Given the description of an element on the screen output the (x, y) to click on. 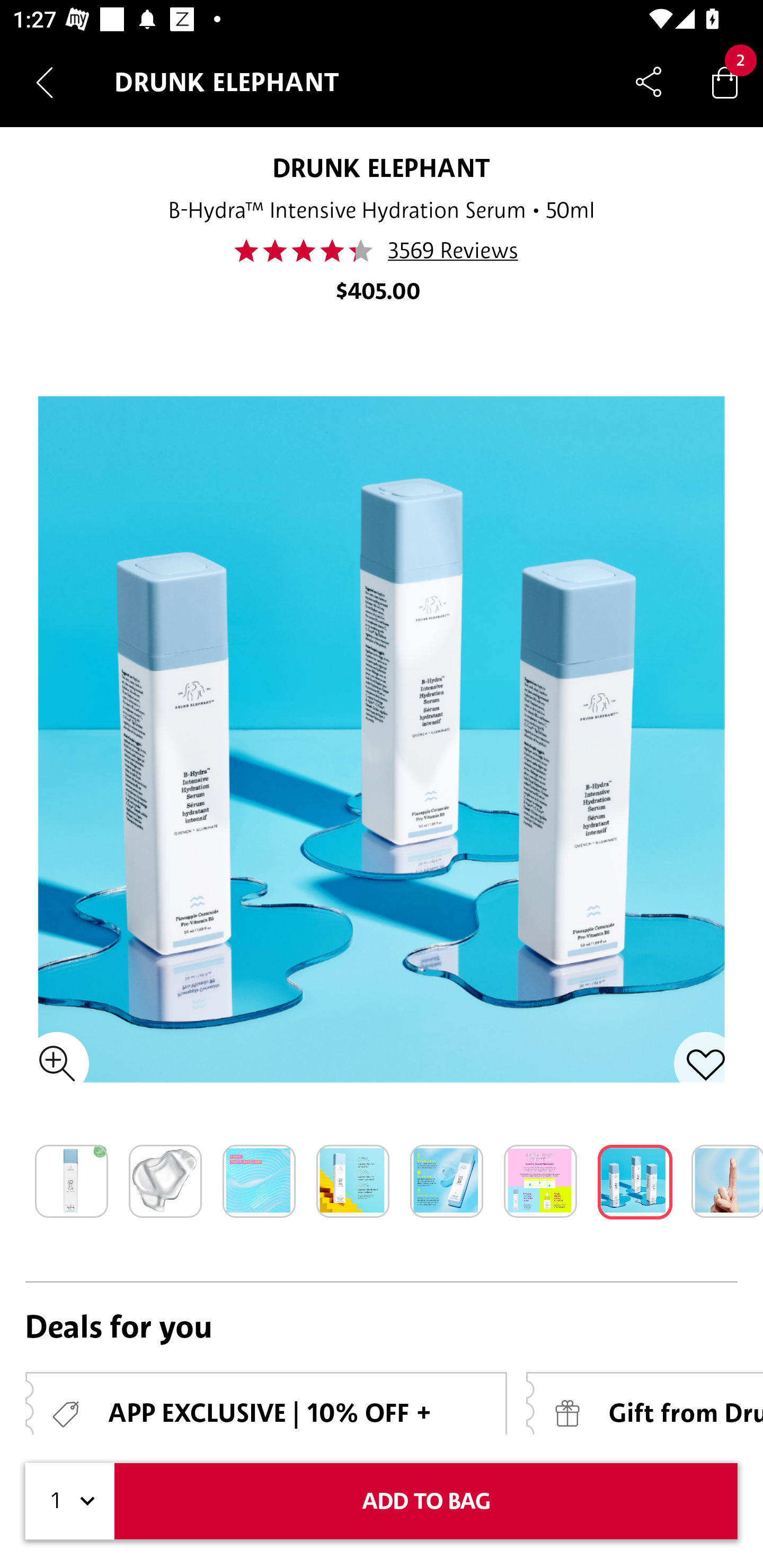
Navigate up (44, 82)
Share (648, 81)
Bag (724, 81)
DRUNK ELEPHANT (381, 167)
43.0 3569 Reviews (381, 250)
1 (69, 1500)
ADD TO BAG (425, 1500)
